Given the description of an element on the screen output the (x, y) to click on. 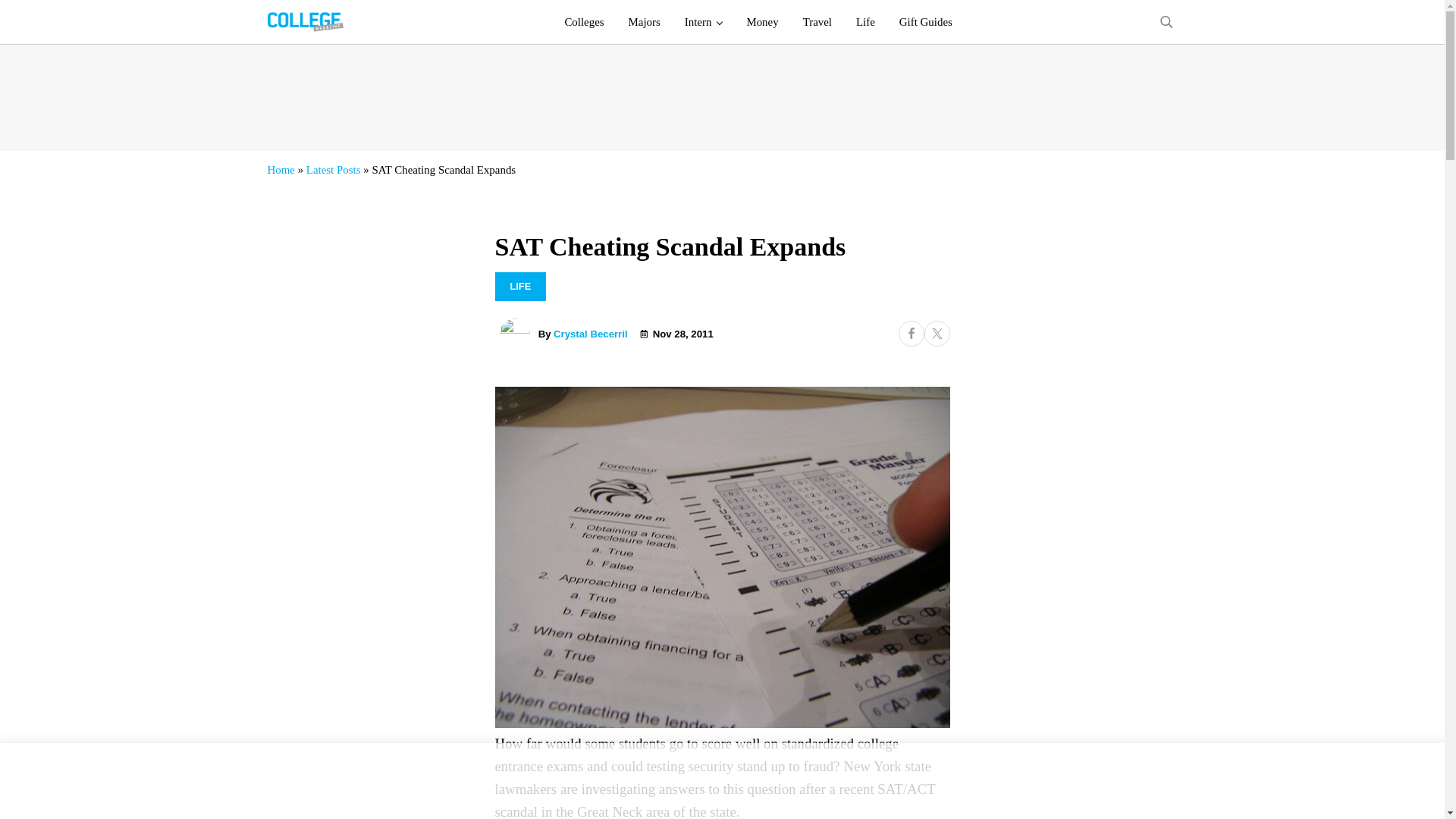
Majors (643, 21)
Gift Guides (924, 21)
Share on Twitter (936, 333)
Colleges (583, 21)
Intern (703, 21)
Money (761, 21)
Travel (817, 21)
Life (865, 21)
Share on Facebook (910, 333)
